Given the description of an element on the screen output the (x, y) to click on. 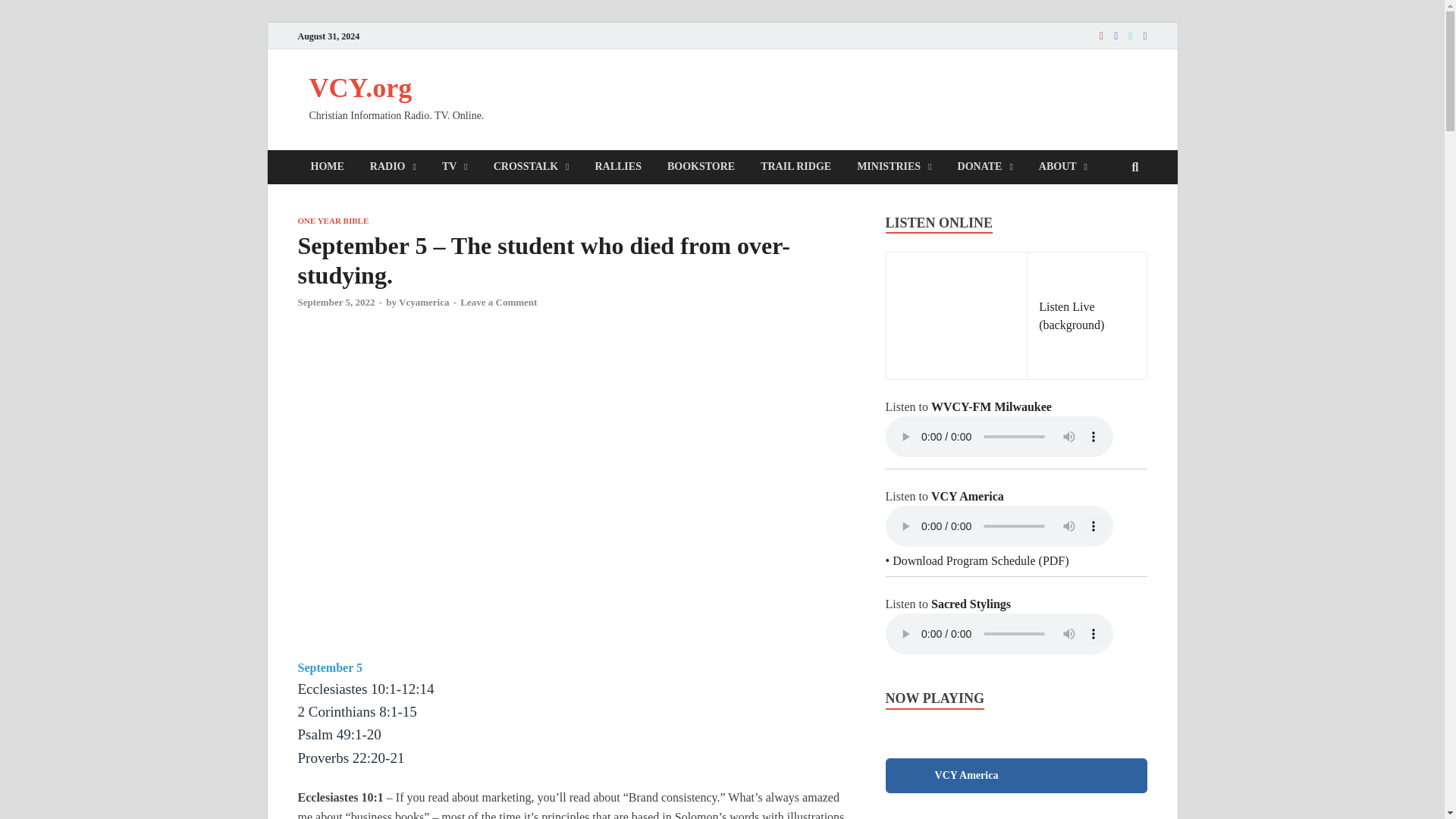
VCY.org (360, 87)
RADIO (392, 166)
HOME (326, 166)
